Given the description of an element on the screen output the (x, y) to click on. 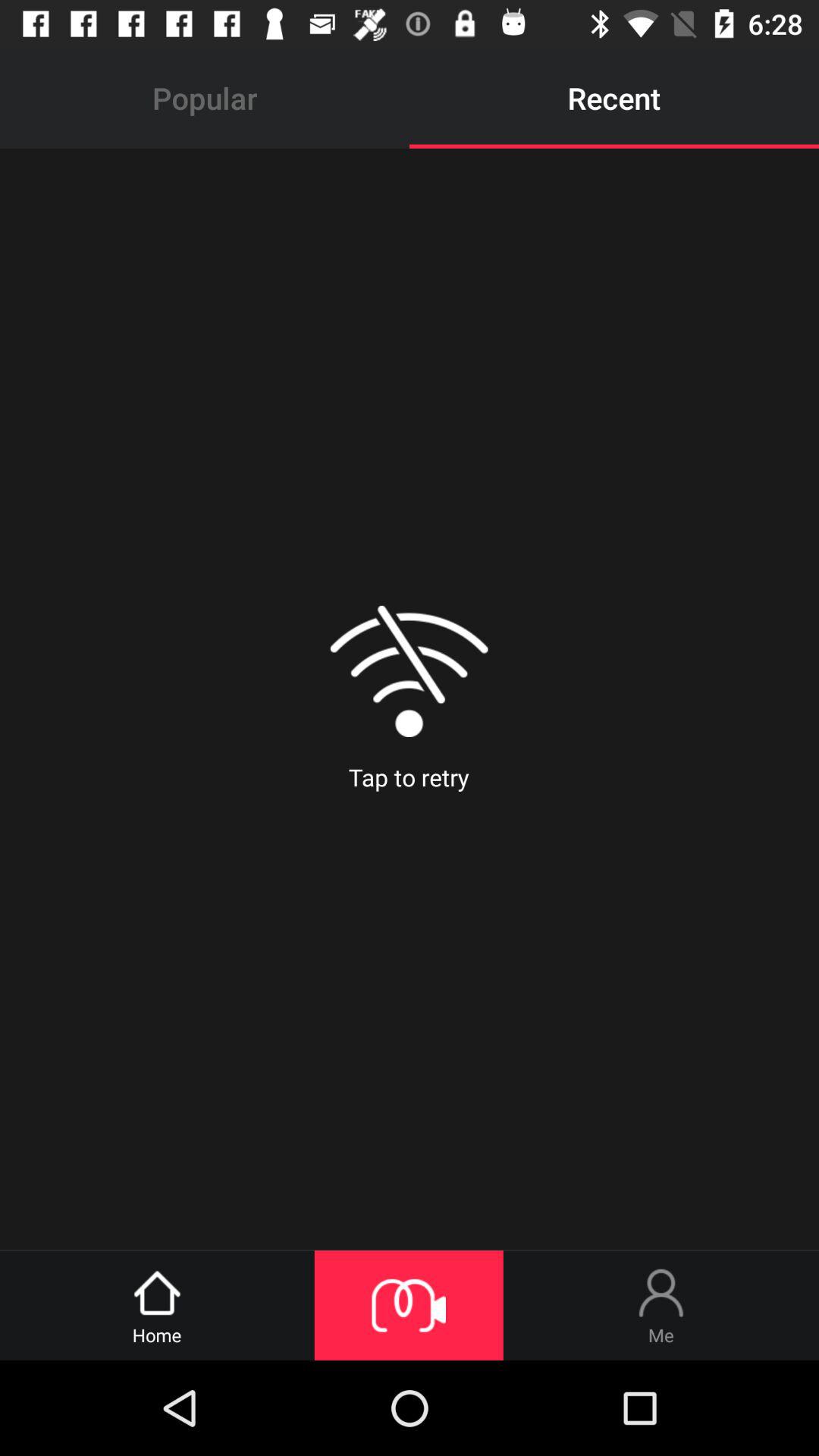
turn off item below popular item (408, 699)
